Given the description of an element on the screen output the (x, y) to click on. 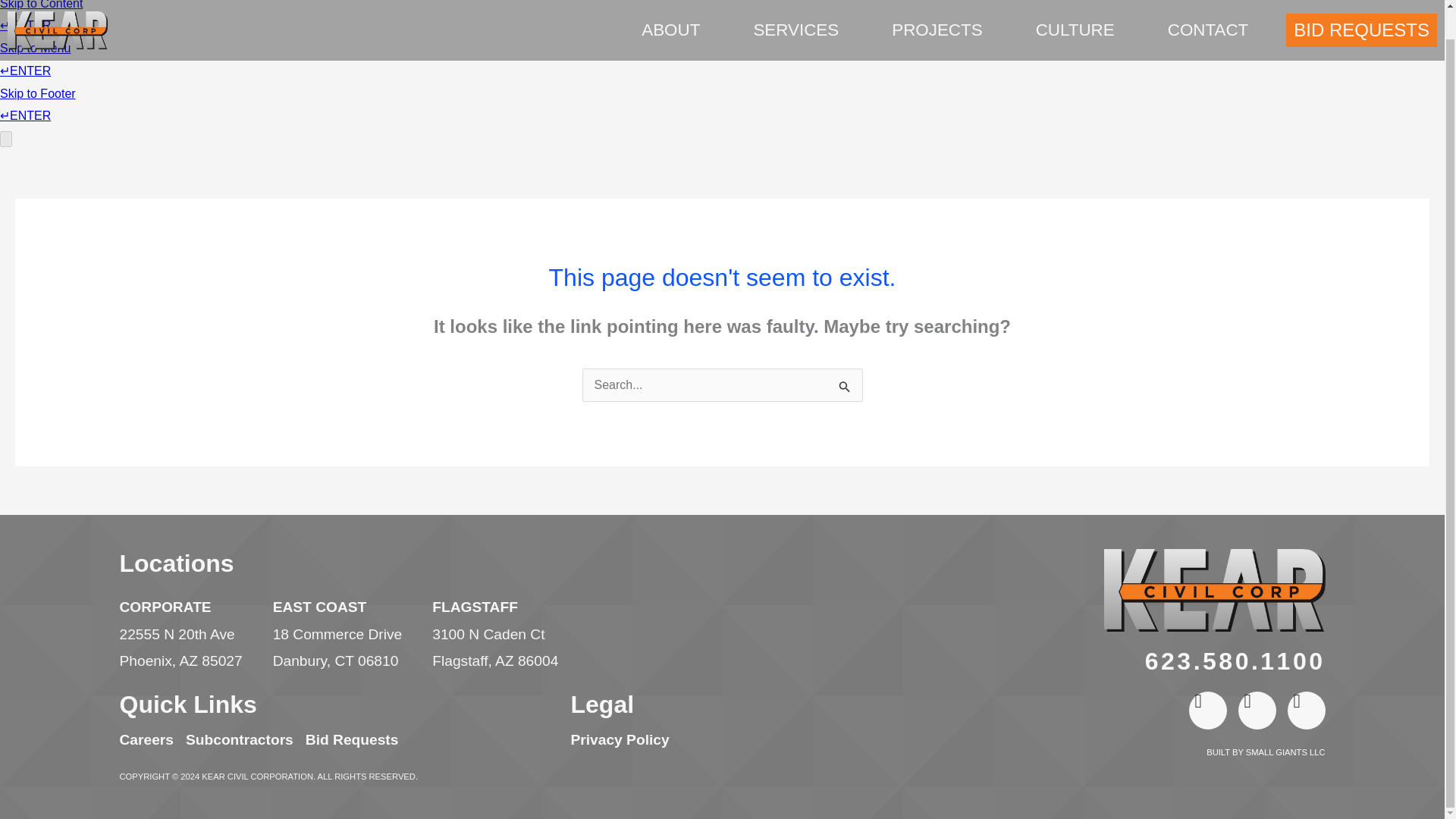
BID REQUESTS (1361, 8)
PROJECTS (940, 15)
ABOUT (674, 15)
SERVICES (799, 15)
CONTACT (1207, 15)
CULTURE (1078, 15)
